Given the description of an element on the screen output the (x, y) to click on. 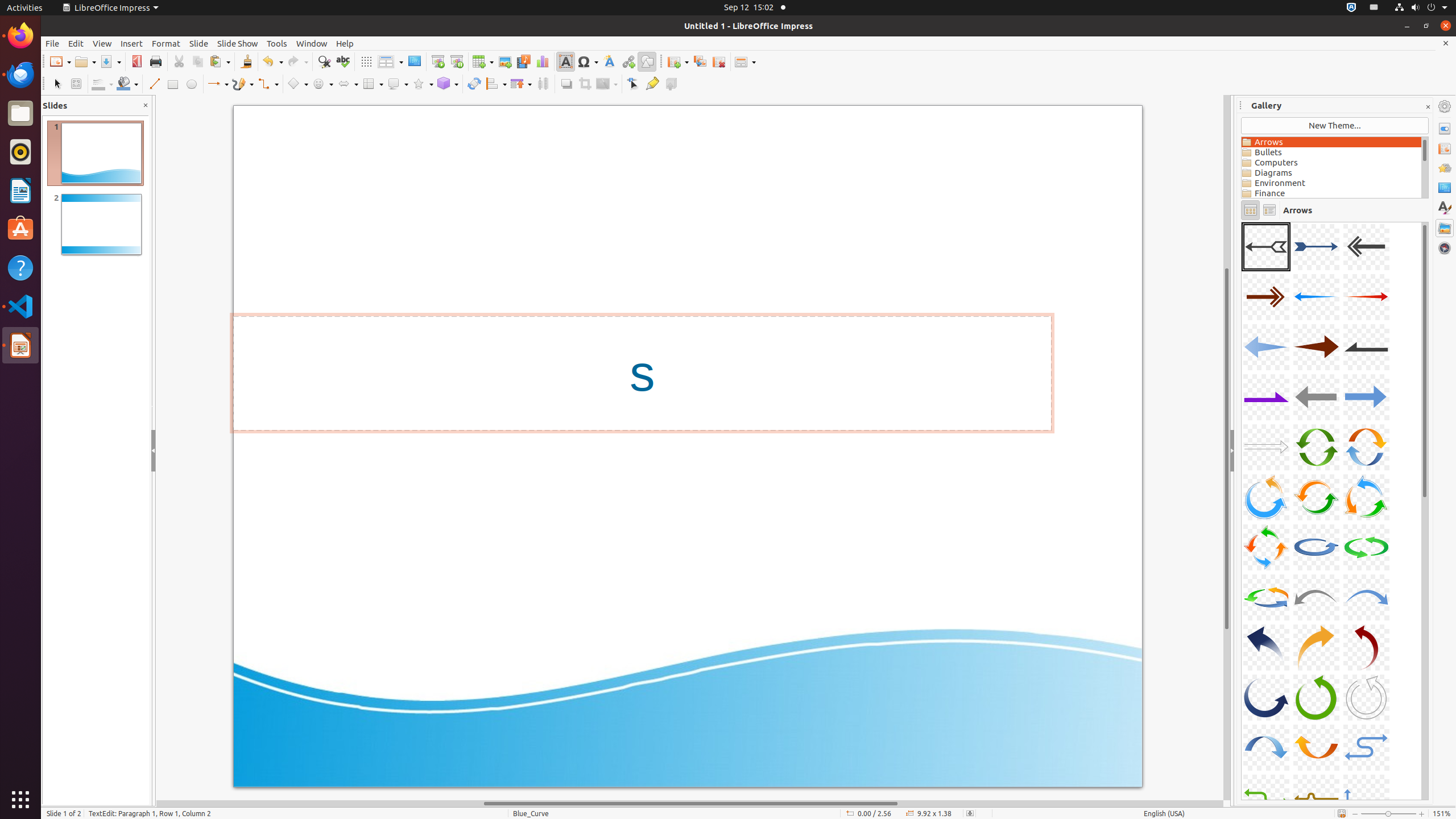
Copy Element type: push-button (197, 61)
View Element type: menu (102, 43)
A14-CircleArrow-Green Element type: list-item (1315, 446)
Media Element type: push-button (523, 61)
Gallery Element type: radio-button (1444, 227)
